Given the description of an element on the screen output the (x, y) to click on. 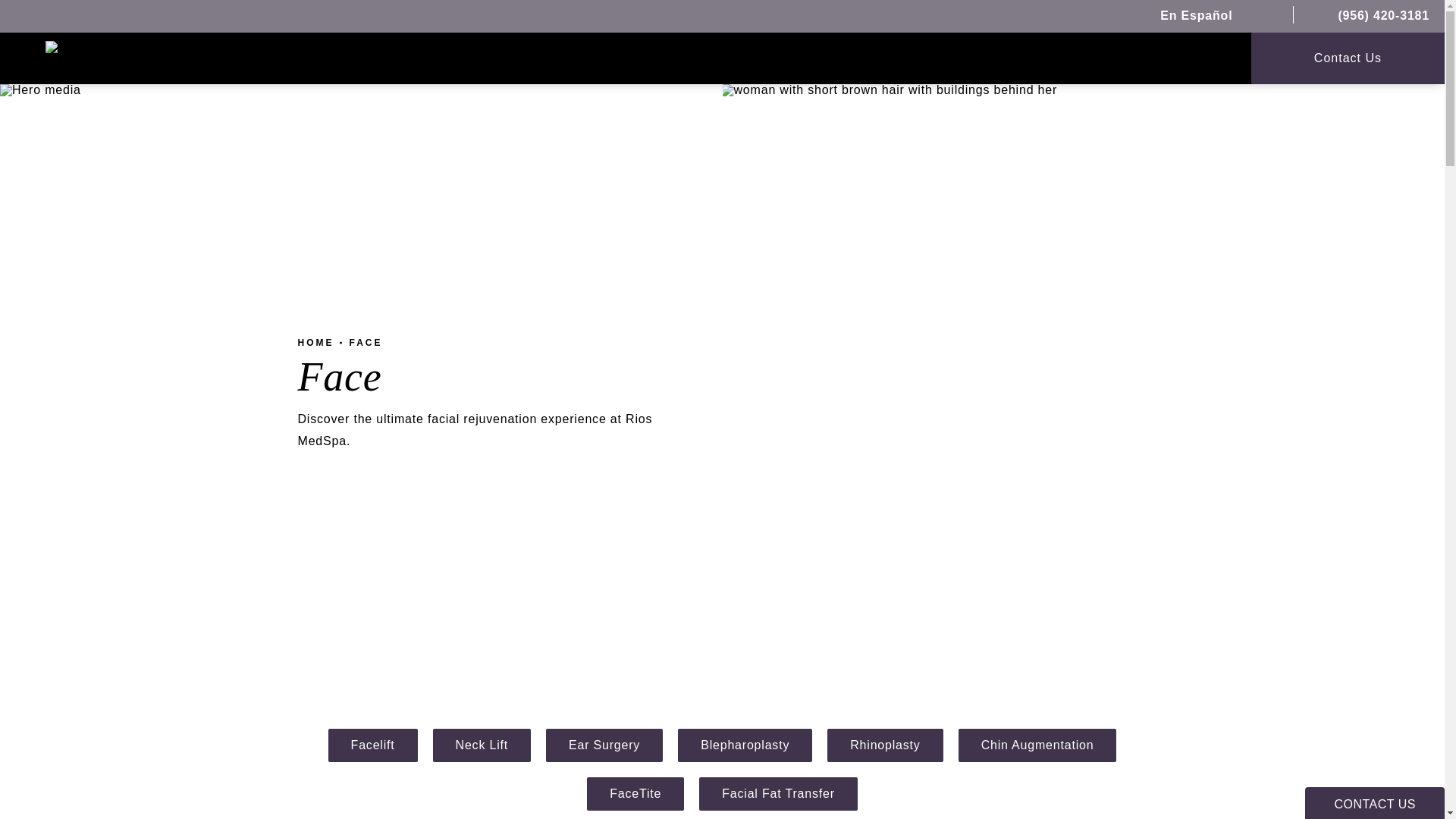
Opens Facial Fat Transfer page (777, 793)
Opens Chin Augmentation page (1037, 745)
Opens Rhinoplasty page (884, 745)
Opens FaceTite page (635, 793)
Opens Neck Lift page (481, 745)
Opens Blepharoplasty page (745, 745)
Opens Ear Surgery page (604, 745)
Opens Facelift page (373, 745)
